Given the description of an element on the screen output the (x, y) to click on. 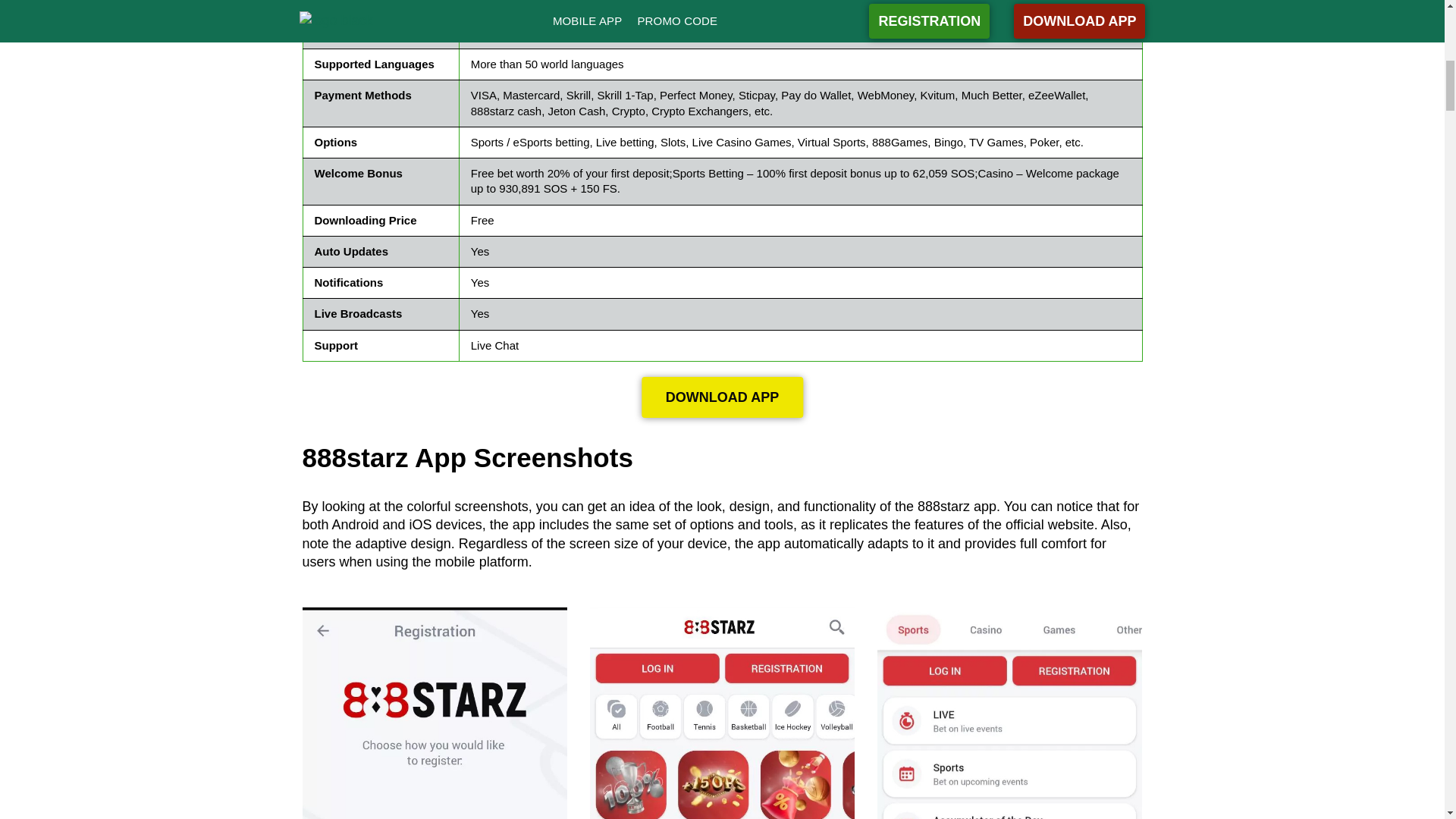
DOWNLOAD APP (722, 396)
